Given the description of an element on the screen output the (x, y) to click on. 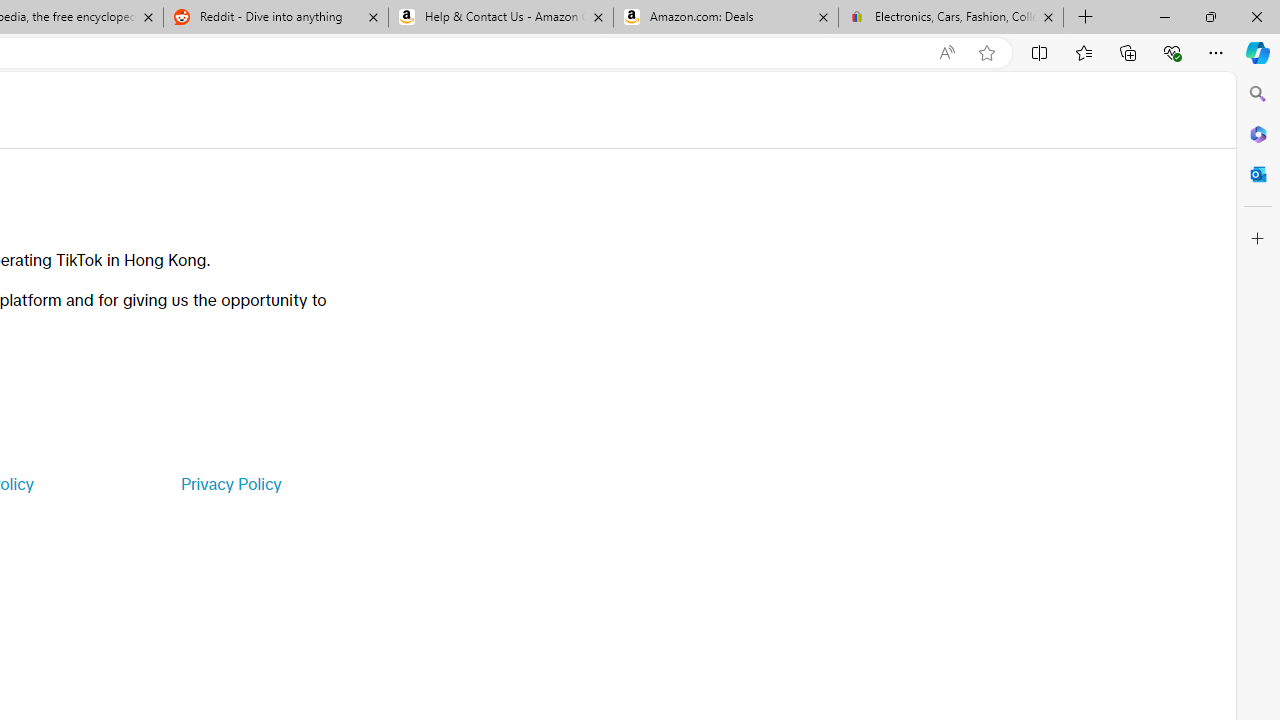
Amazon.com: Deals (726, 17)
Privacy Policy (230, 484)
